Given the description of an element on the screen output the (x, y) to click on. 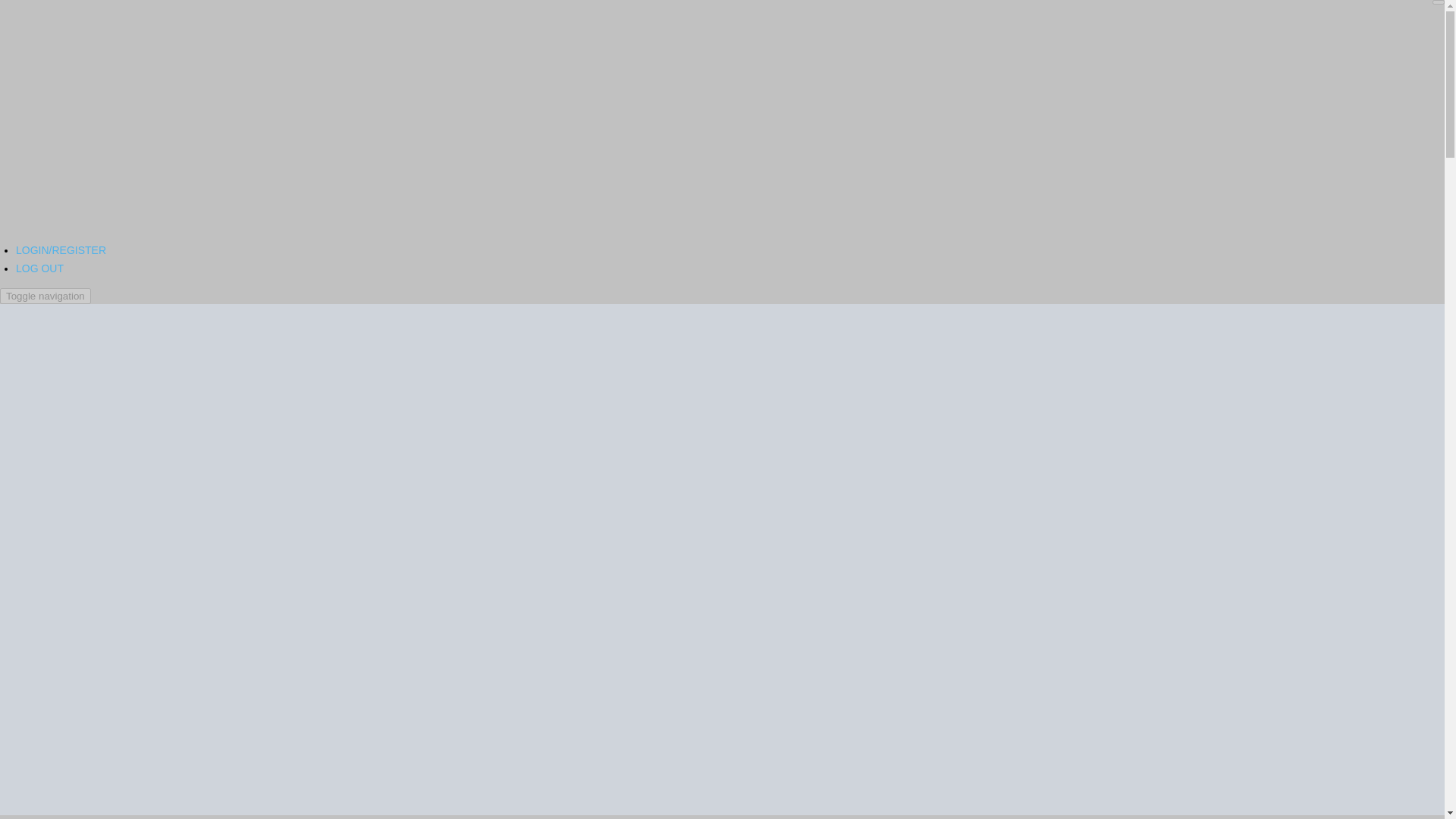
LOG OUT (40, 268)
Toggle navigation (45, 295)
LOG OUT (40, 268)
